Given the description of an element on the screen output the (x, y) to click on. 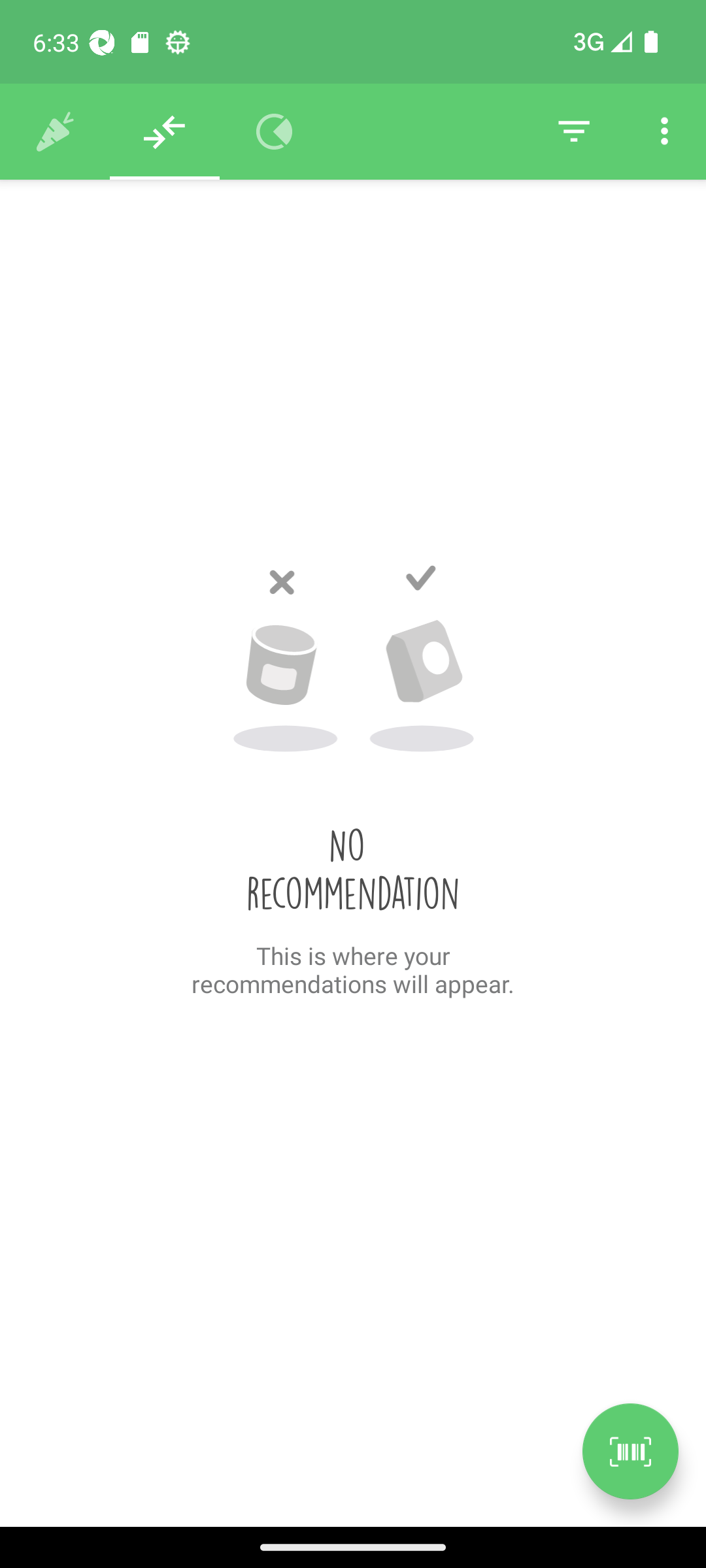
History (55, 131)
Overview (274, 131)
Filter (573, 131)
Settings (664, 131)
Scan a product (630, 1451)
